Given the description of an element on the screen output the (x, y) to click on. 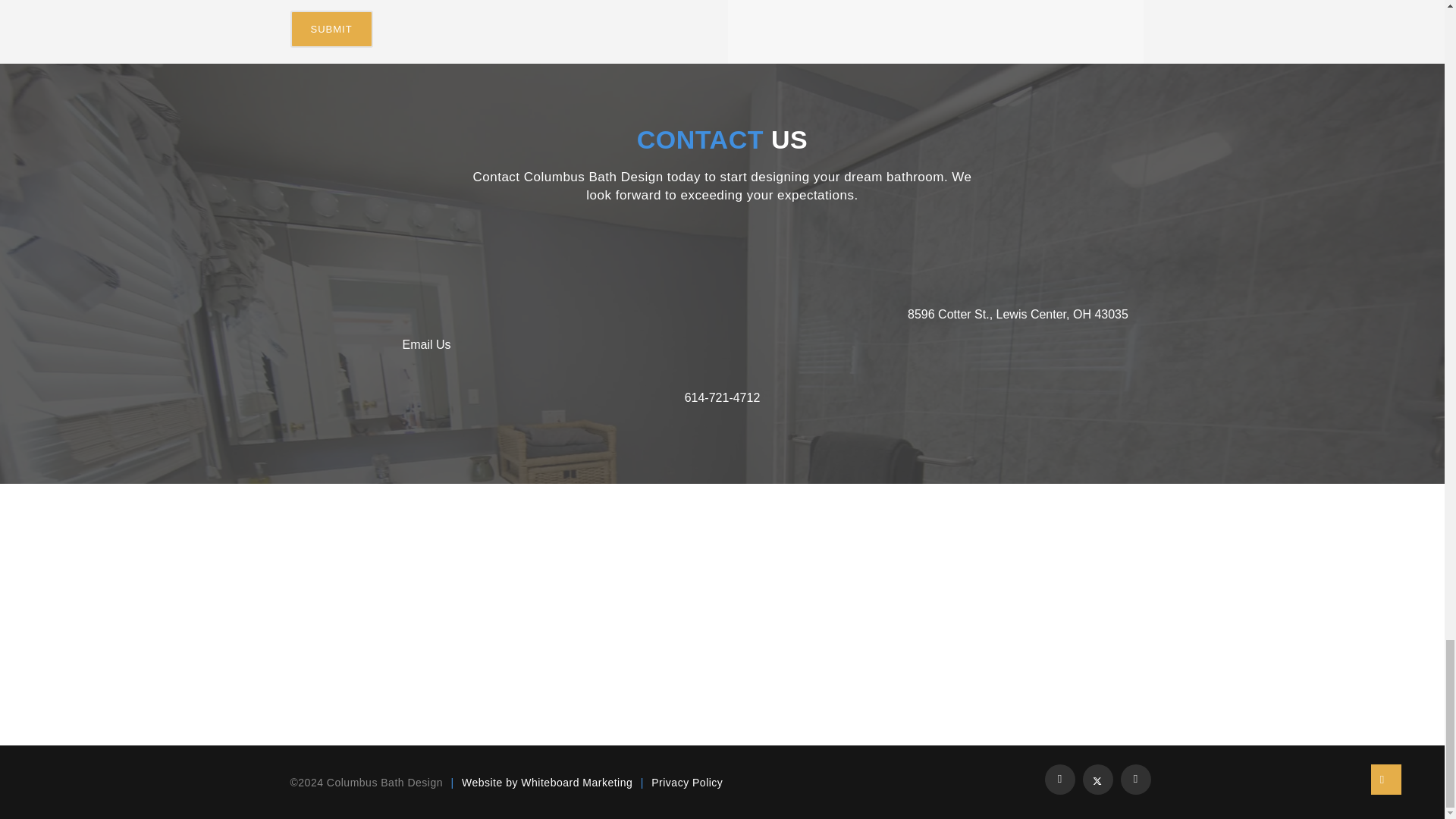
SUBMIT (330, 28)
